Given the description of an element on the screen output the (x, y) to click on. 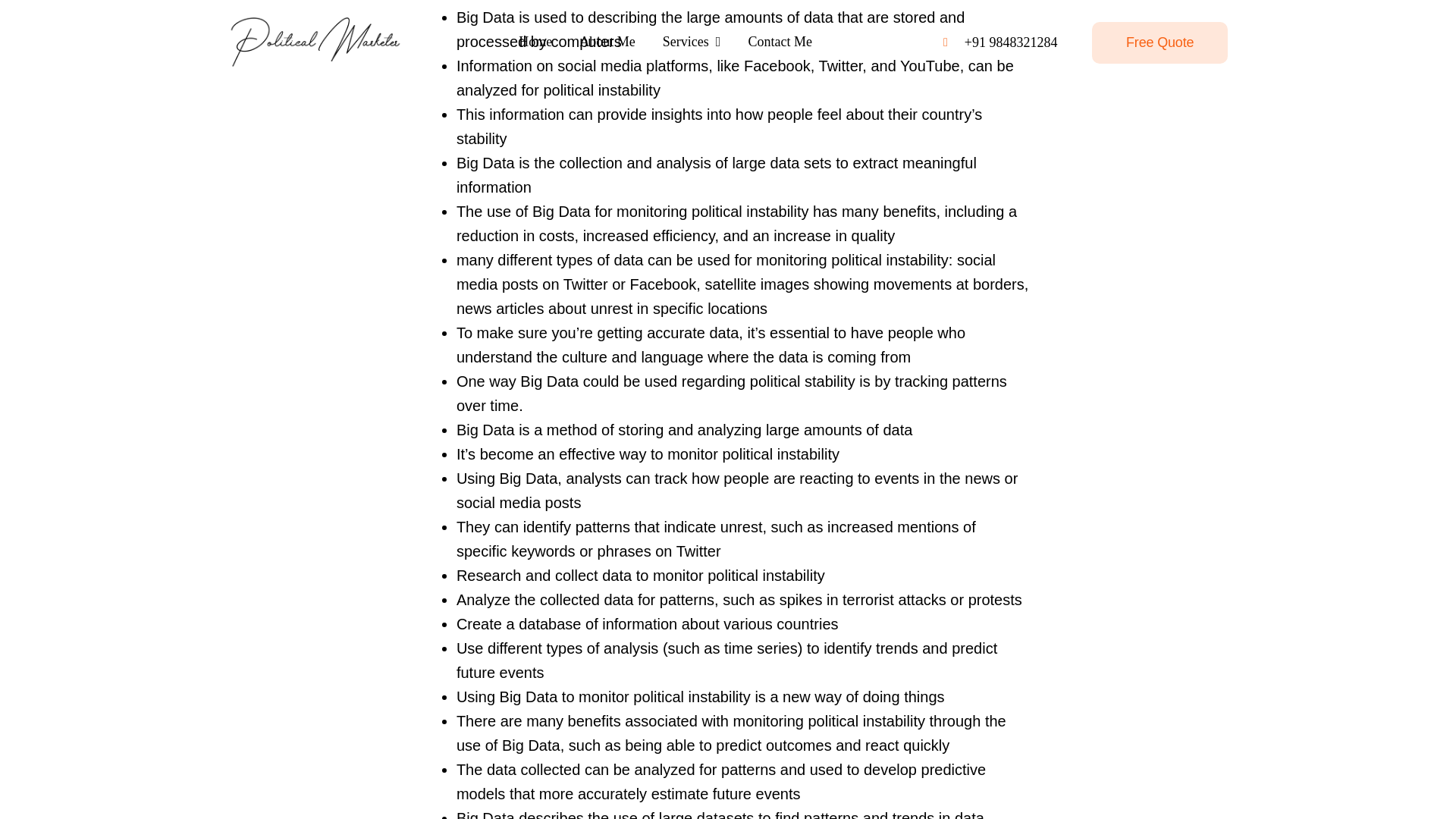
YouTube (929, 65)
Facebook (777, 65)
